Given the description of an element on the screen output the (x, y) to click on. 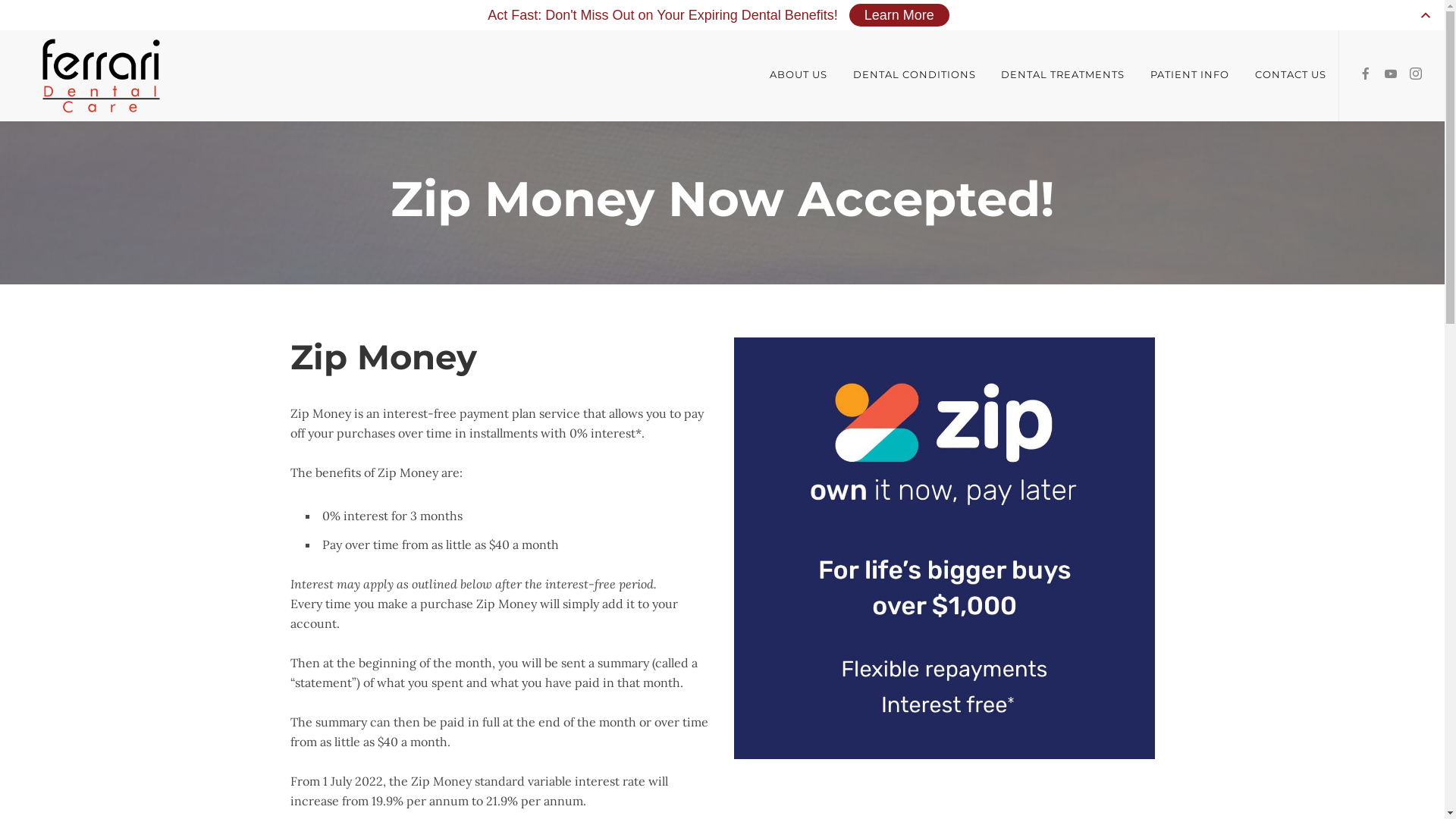
Learn More Element type: text (899, 14)
DENTAL CONDITIONS Element type: text (914, 74)
ABOUT US Element type: text (804, 74)
DENTAL TREATMENTS Element type: text (1063, 74)
PATIENT INFO Element type: text (1189, 74)
CONTACT US Element type: text (1284, 74)
